Given the description of an element on the screen output the (x, y) to click on. 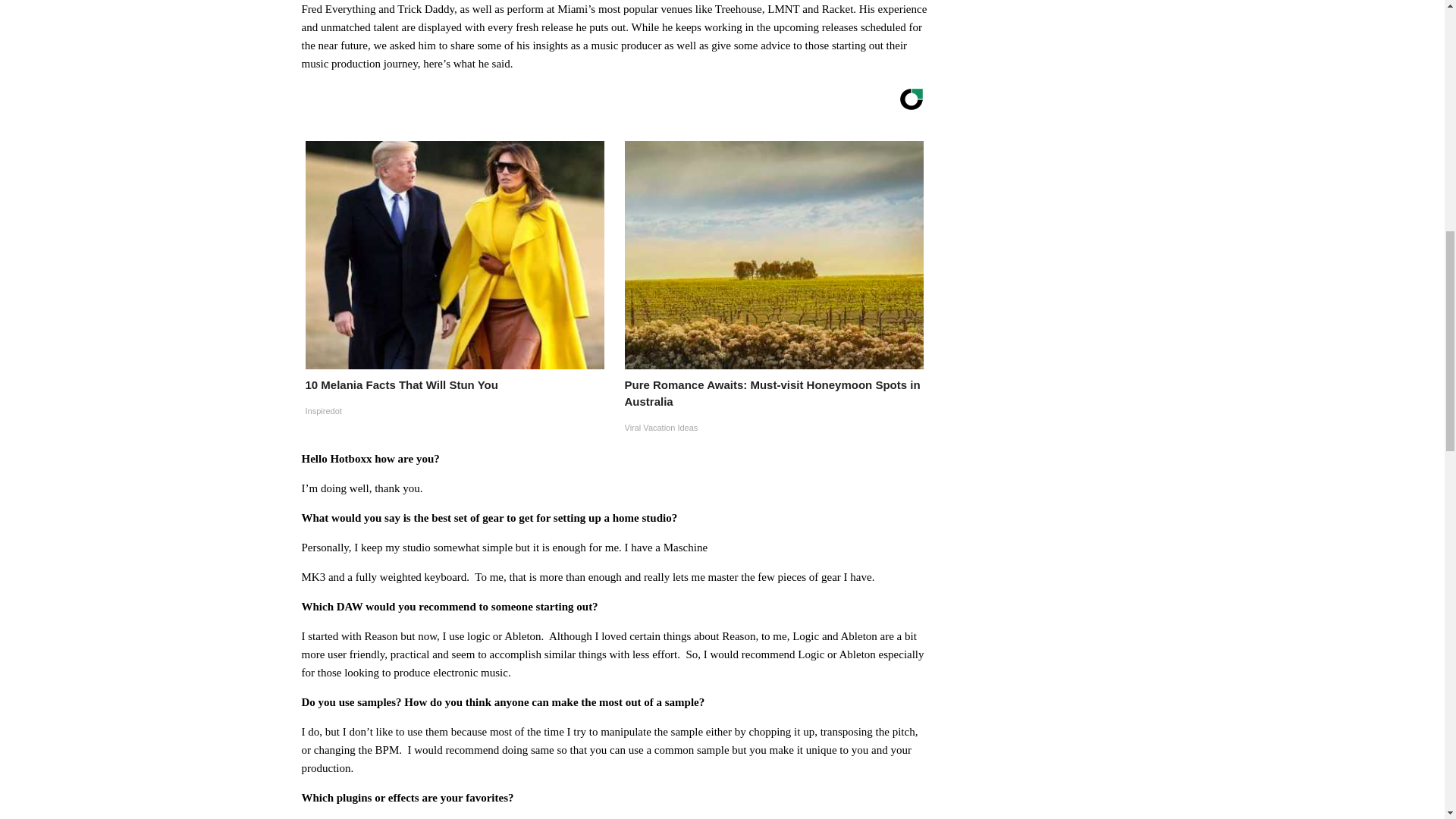
Advertisement (1042, 209)
